Given the description of an element on the screen output the (x, y) to click on. 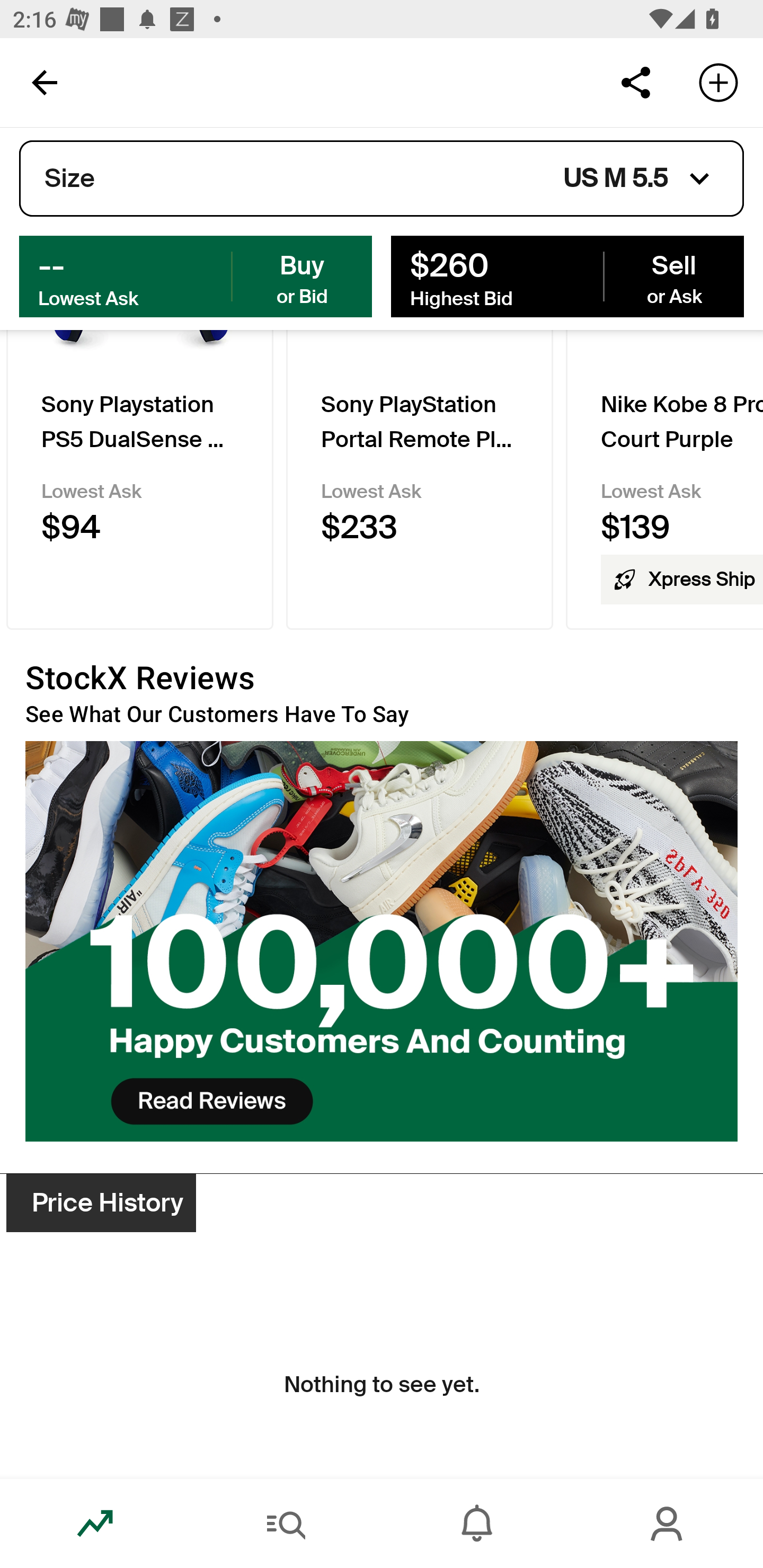
Share (635, 81)
Add (718, 81)
Size US M 5.5 (381, 178)
-- Buy Lowest Ask or Bid (195, 275)
$260 Sell Highest Bid or Ask (566, 275)
Search (285, 1523)
Inbox (476, 1523)
Account (667, 1523)
